Given the description of an element on the screen output the (x, y) to click on. 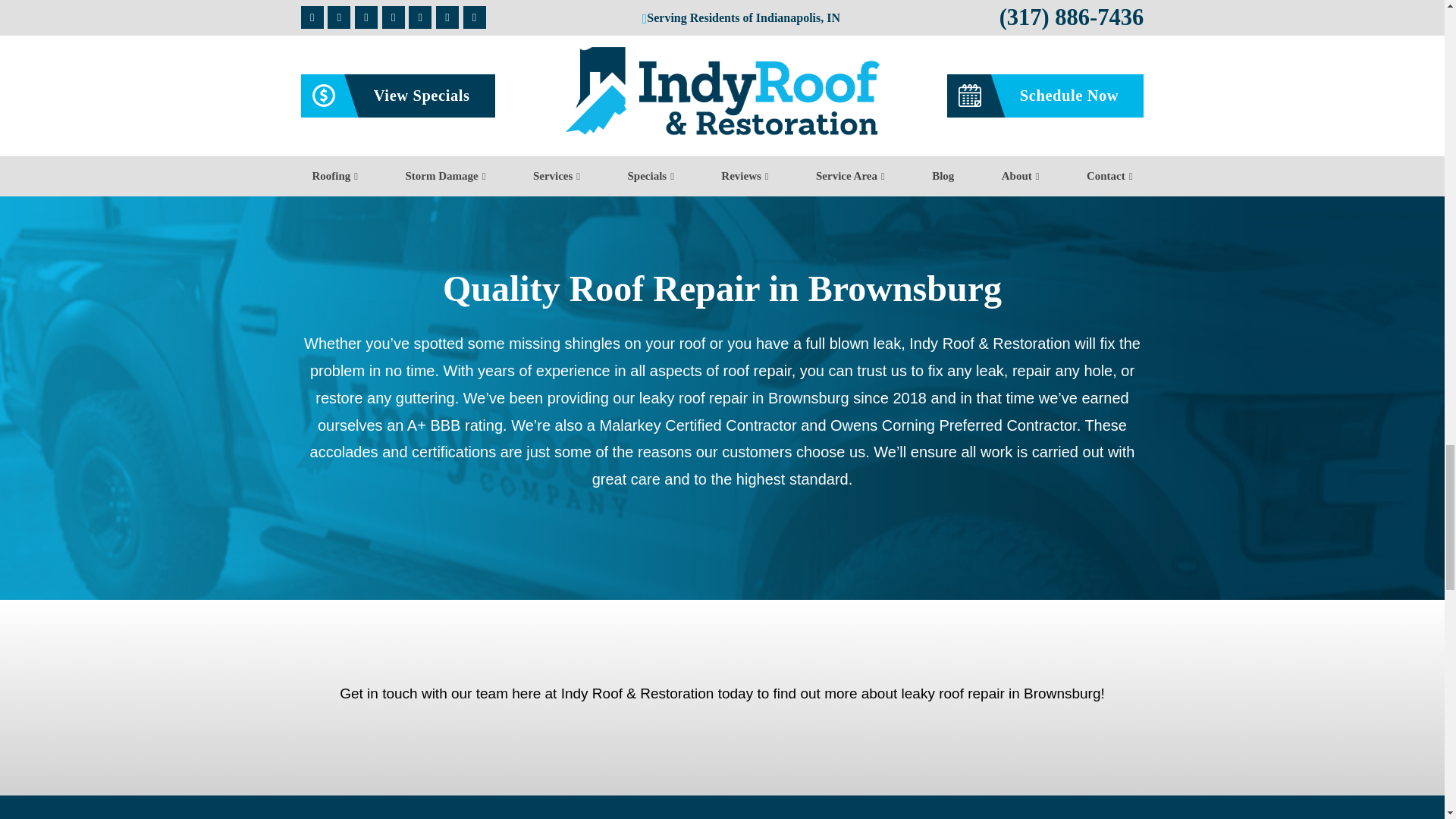
YouTube video player (901, 17)
